Given the description of an element on the screen output the (x, y) to click on. 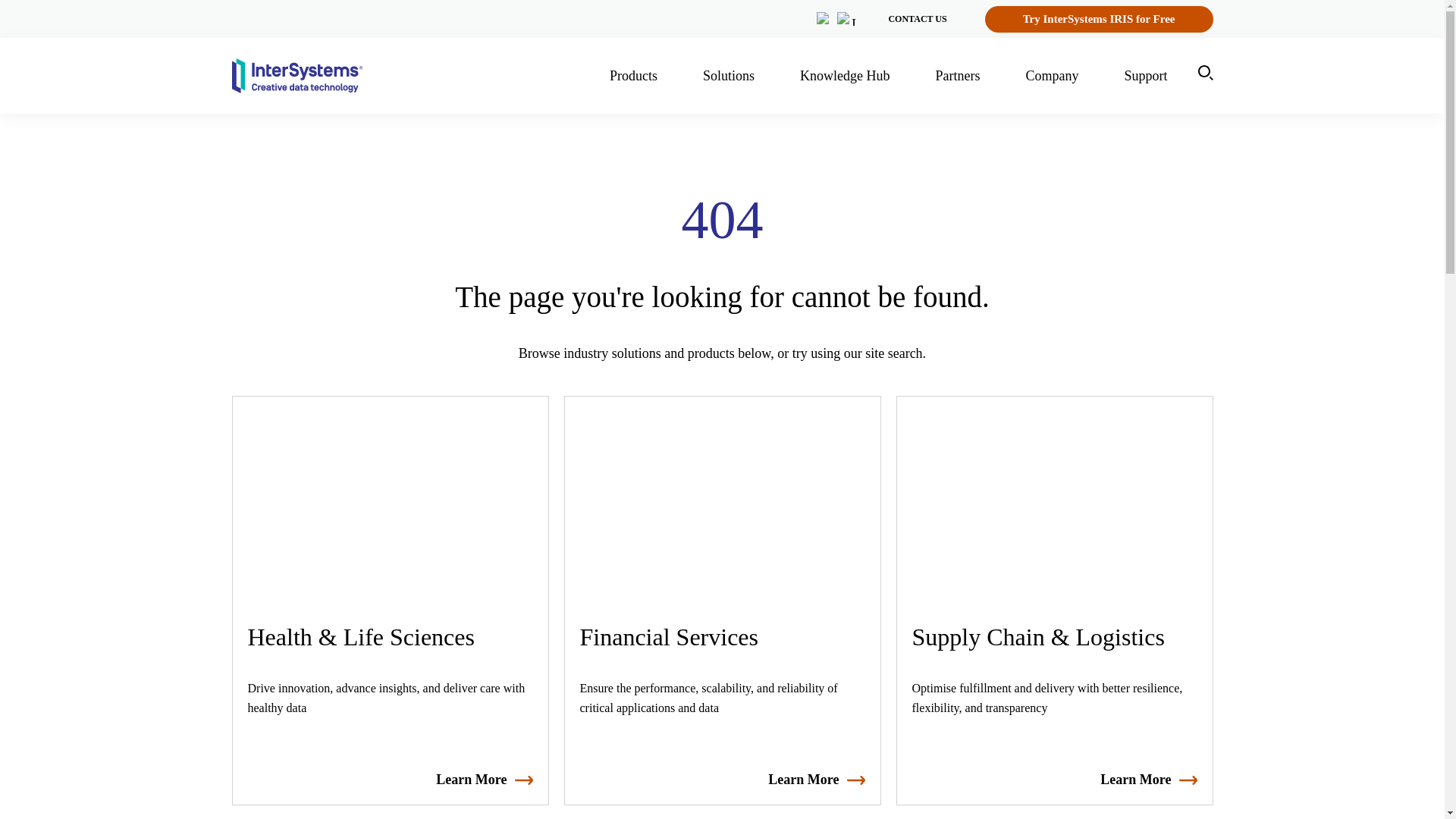
Toggle Countries (836, 18)
